Given the description of an element on the screen output the (x, y) to click on. 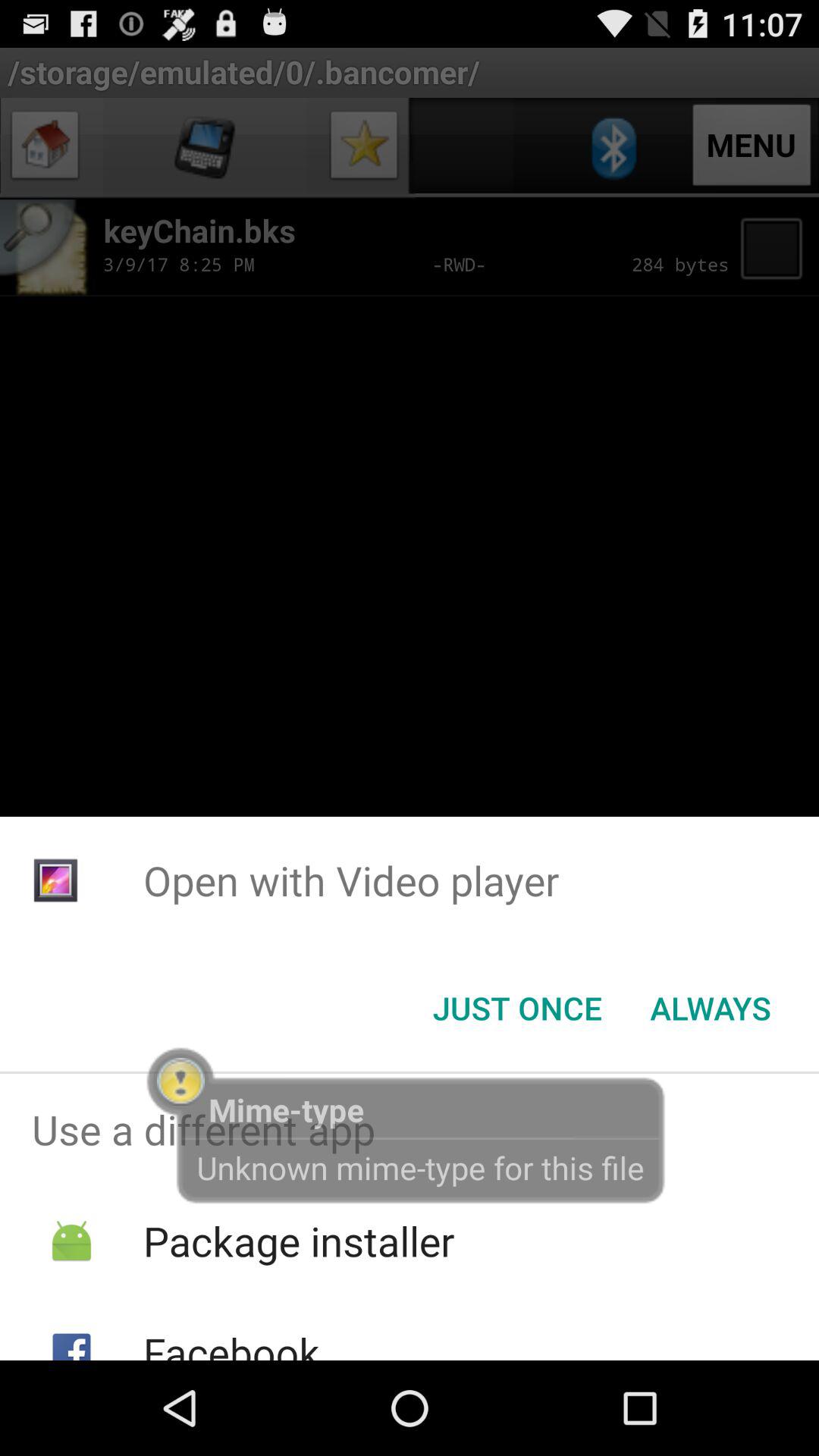
swipe until the facebook app (231, 1342)
